Given the description of an element on the screen output the (x, y) to click on. 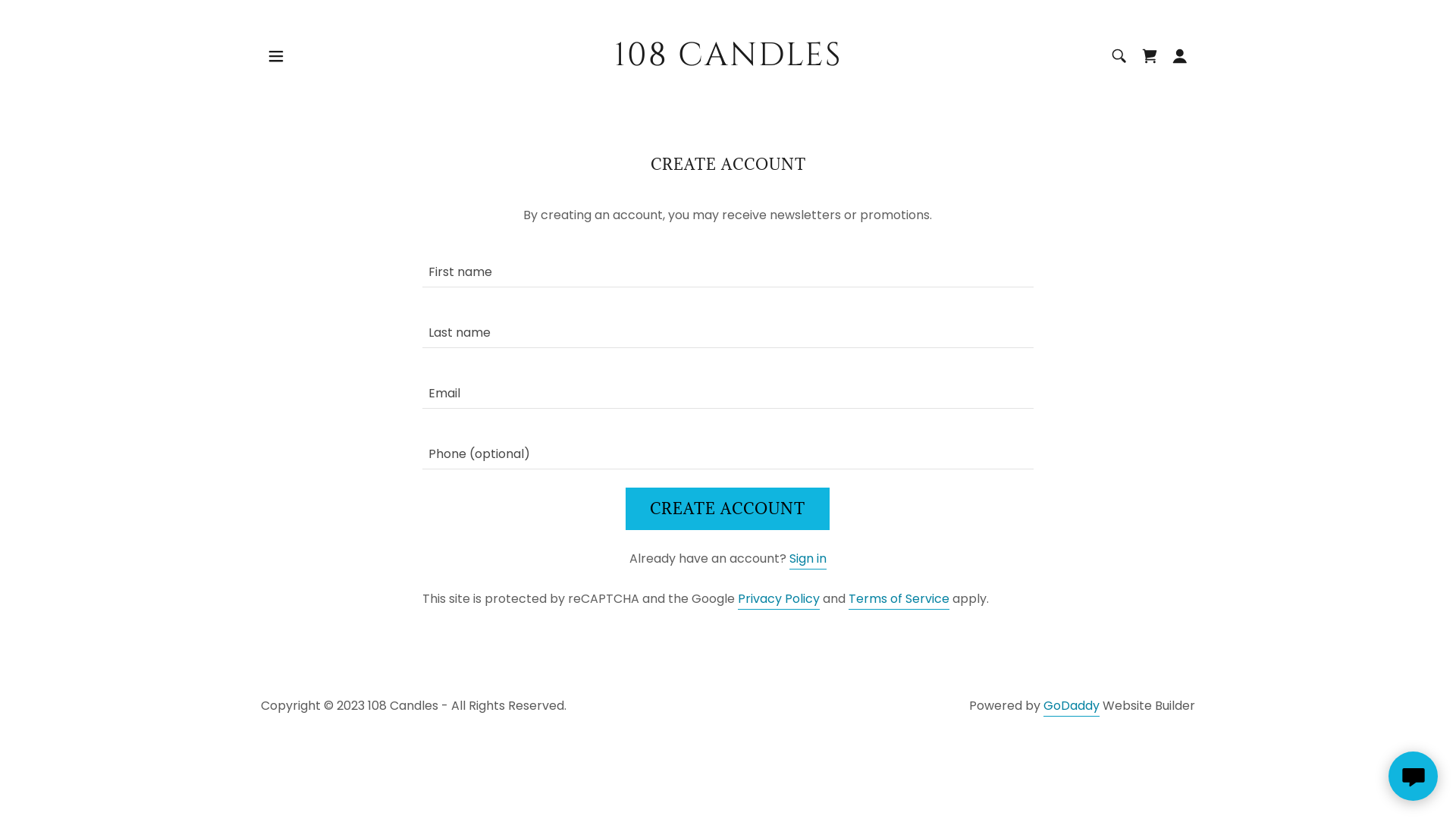
Terms of Service Element type: text (898, 599)
108 CANDLES Element type: text (728, 60)
CREATE ACCOUNT Element type: text (727, 508)
Sign in Element type: text (807, 559)
GoDaddy Element type: text (1071, 706)
Privacy Policy Element type: text (778, 599)
